Given the description of an element on the screen output the (x, y) to click on. 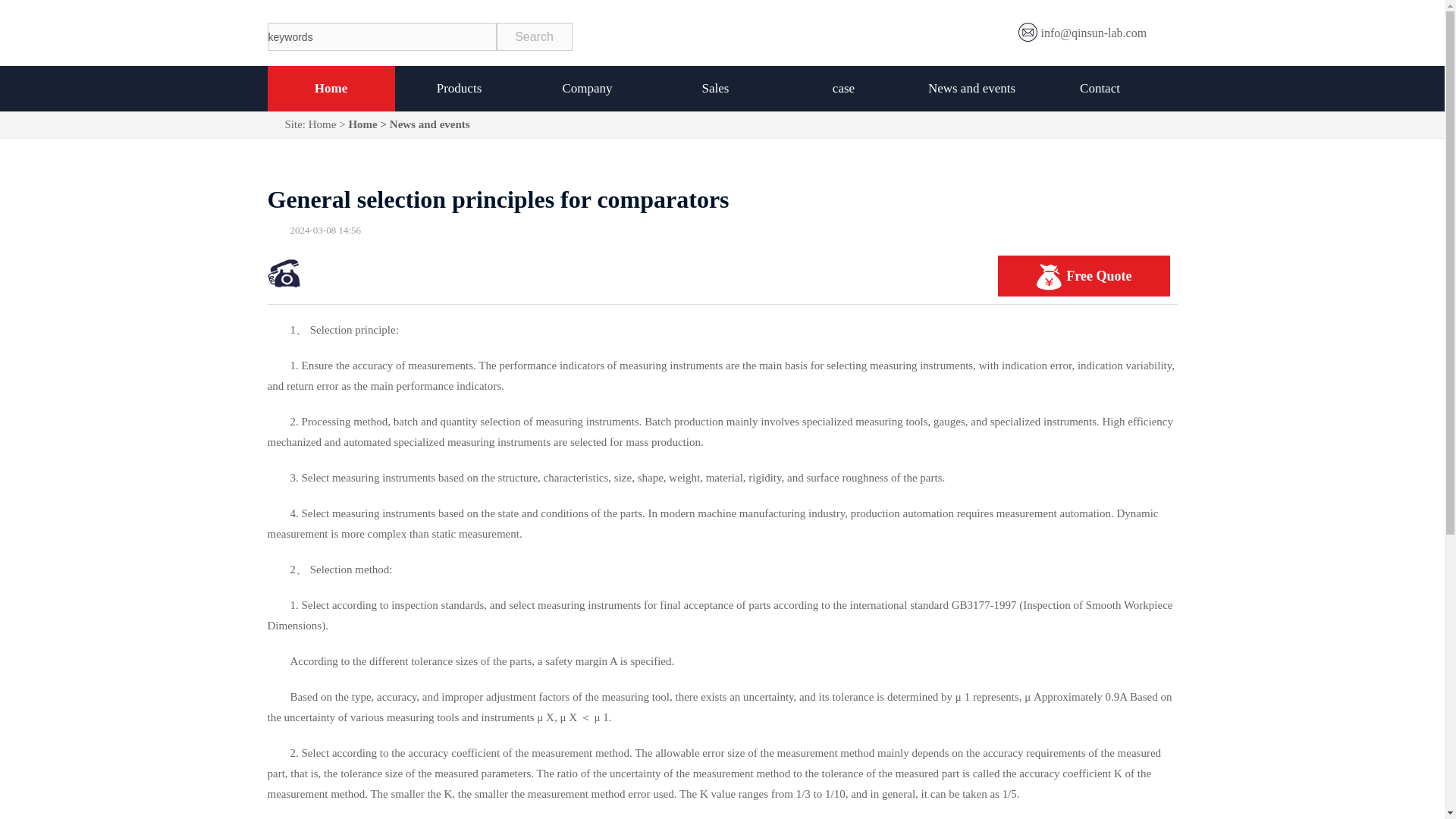
Sales (715, 88)
case (842, 88)
Products (459, 88)
Company (586, 88)
Search (534, 36)
News and events (971, 88)
keywords (381, 36)
Home (330, 88)
